Given the description of an element on the screen output the (x, y) to click on. 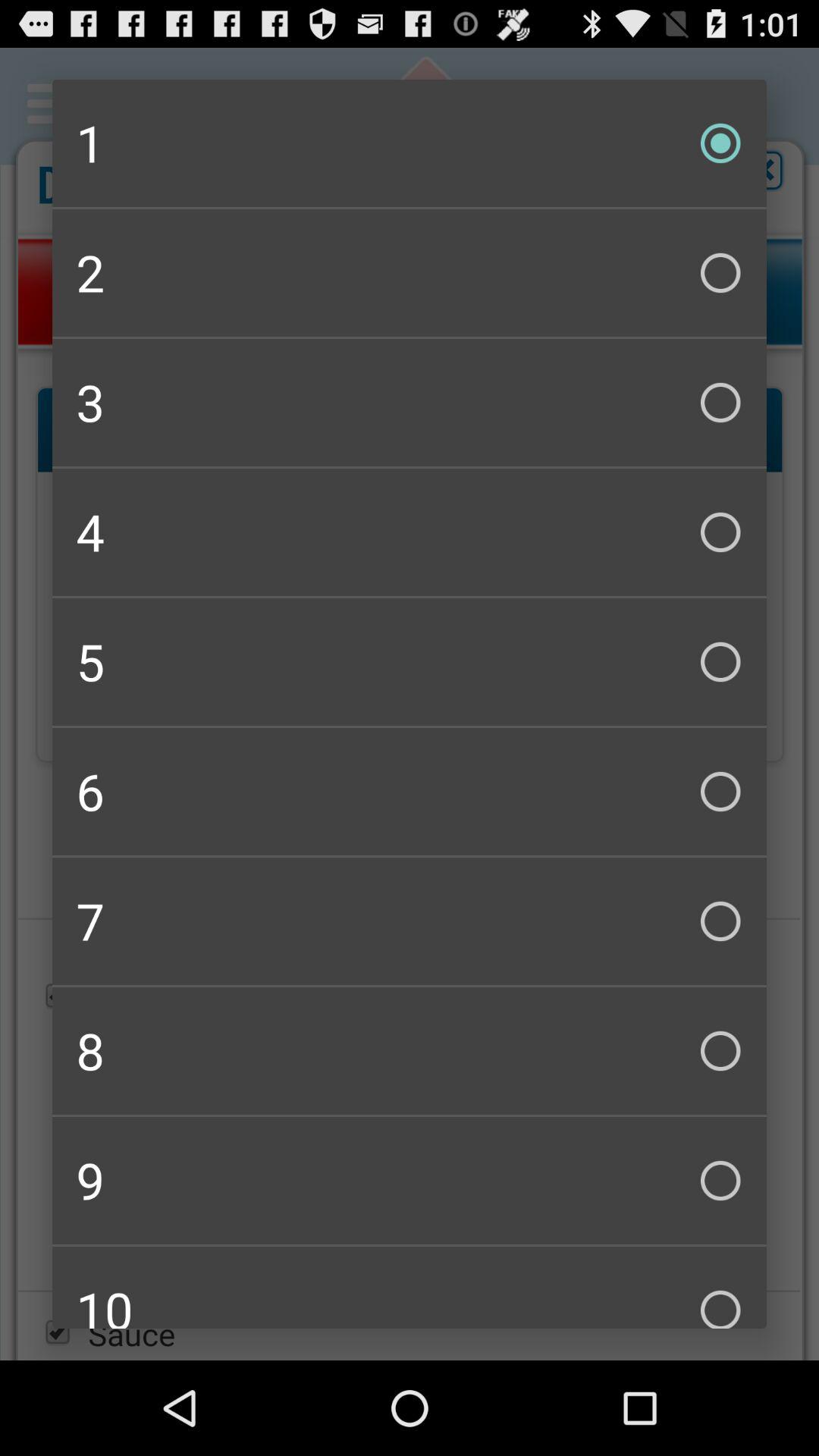
tap the icon above the 5 icon (409, 532)
